Given the description of an element on the screen output the (x, y) to click on. 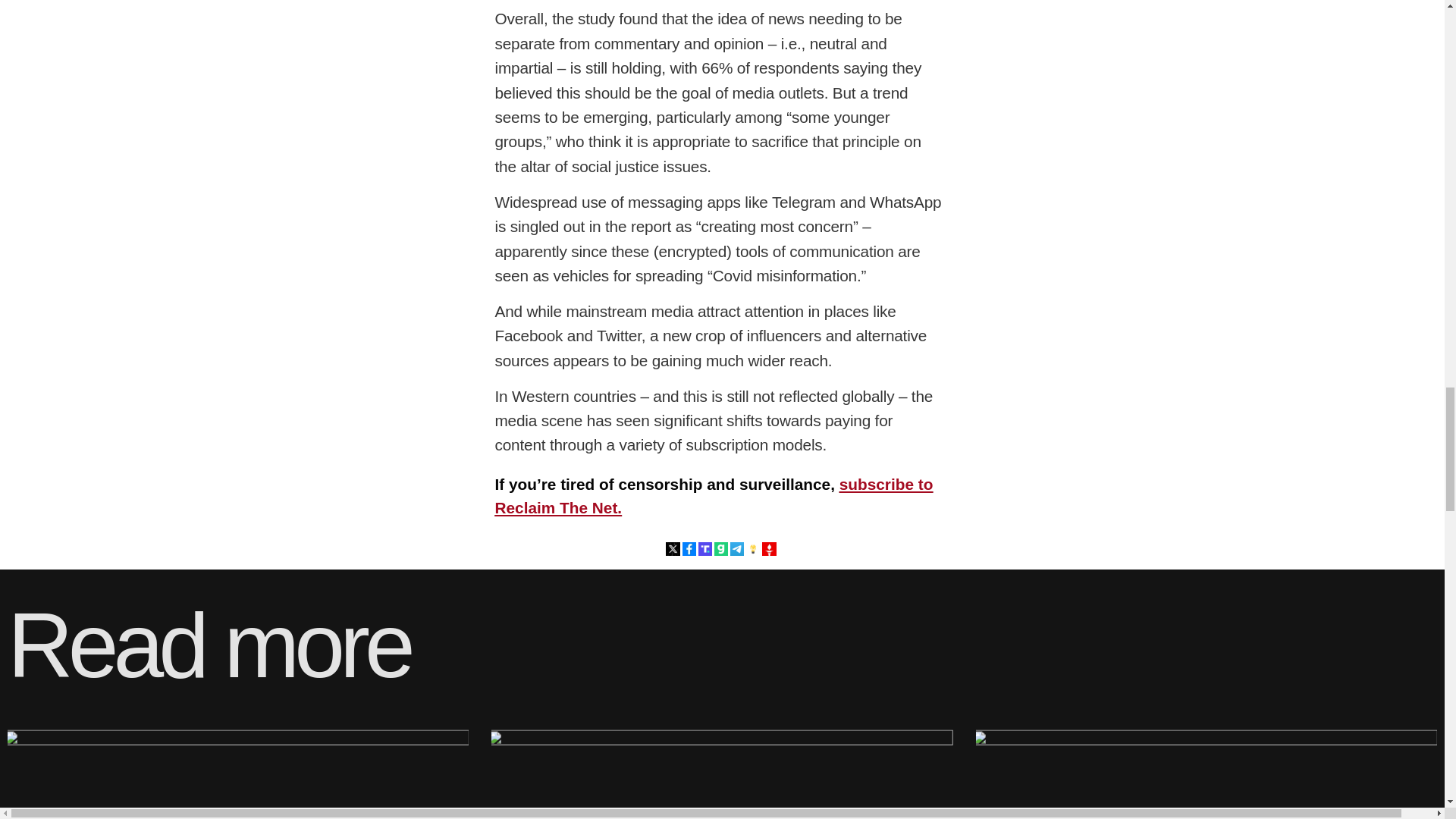
subscribe to Reclaim The Net. (714, 495)
